Given the description of an element on the screen output the (x, y) to click on. 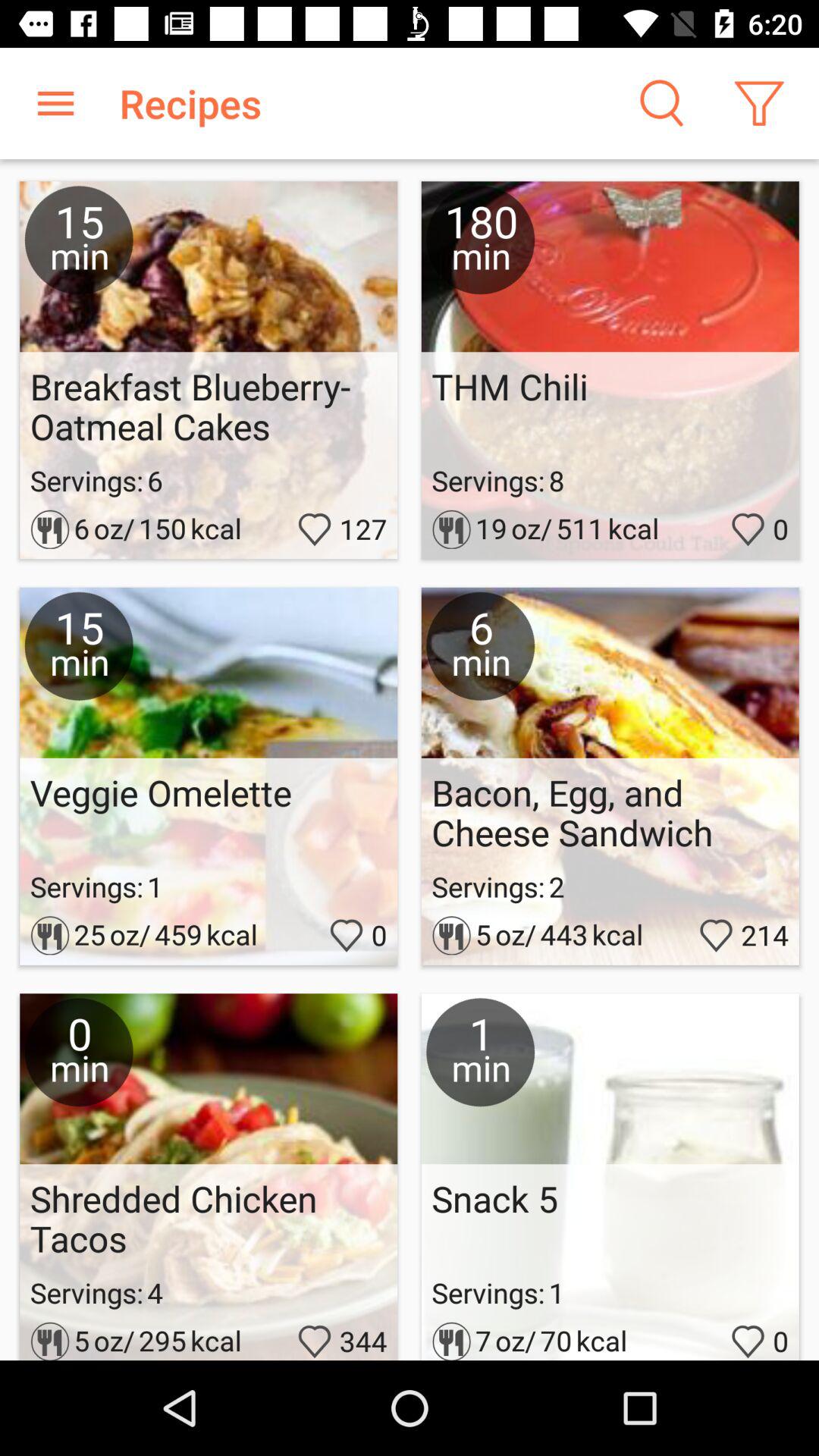
filter options (759, 103)
